Given the description of an element on the screen output the (x, y) to click on. 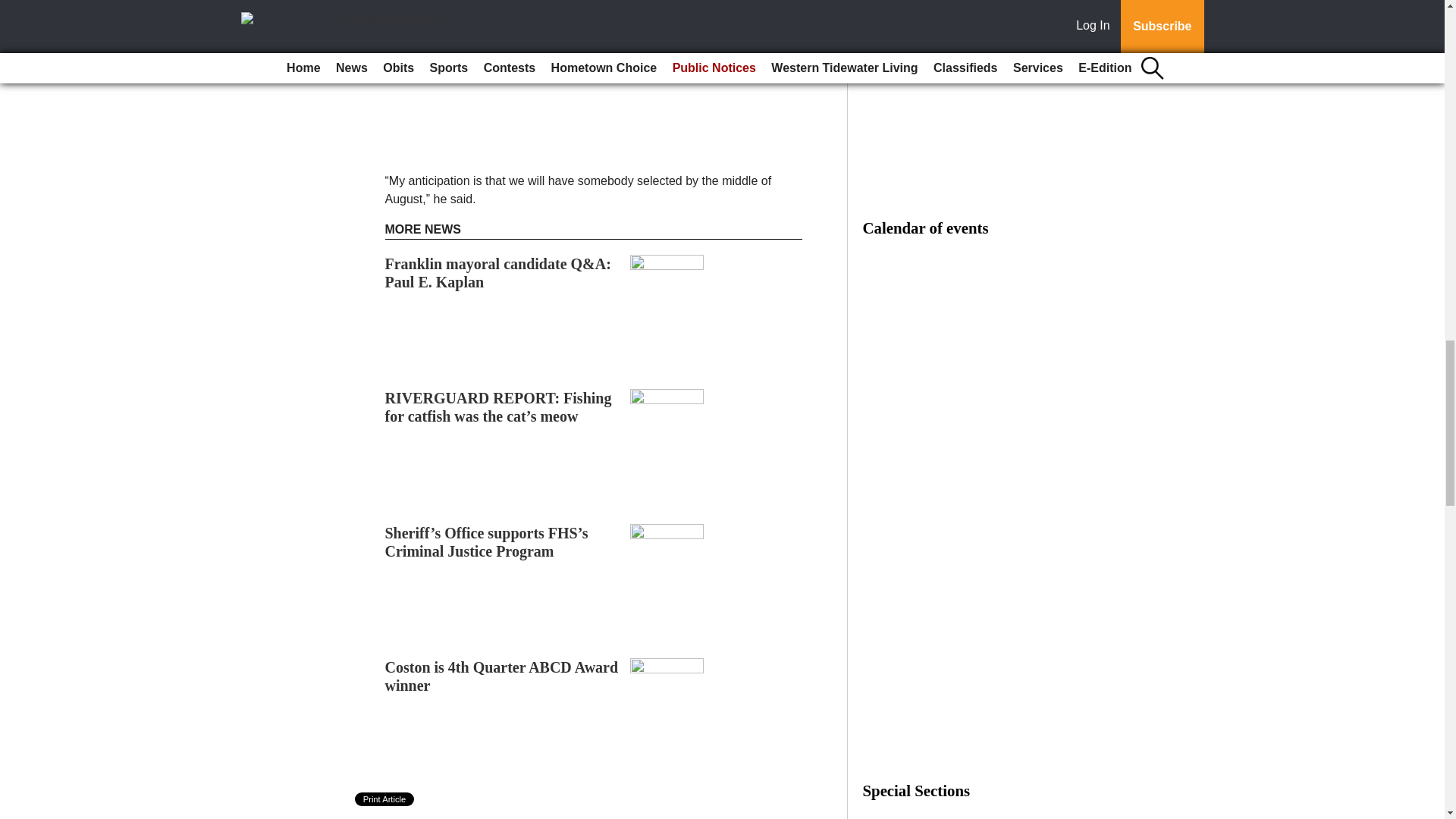
Coston is 4th Quarter ABCD Award winner (501, 676)
